Given the description of an element on the screen output the (x, y) to click on. 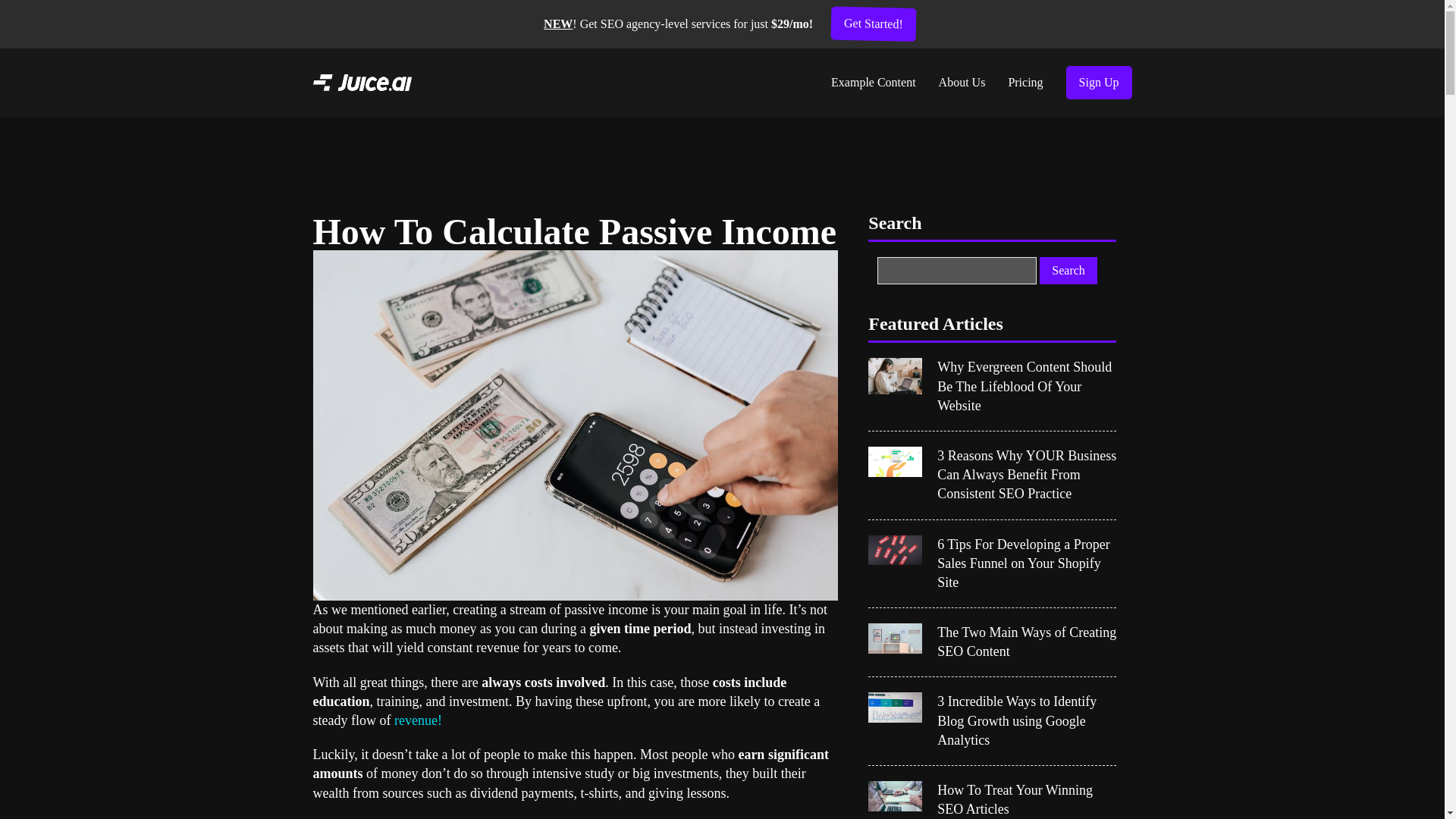
Example Content (873, 82)
Sign Up (1098, 82)
revenue! (418, 720)
How To Treat Your Winning SEO Articles (1026, 800)
Search (1068, 270)
Search (1068, 270)
About Us (962, 82)
Get Started! (873, 23)
The Two Main Ways of Creating SEO Content (1026, 641)
